Given the description of an element on the screen output the (x, y) to click on. 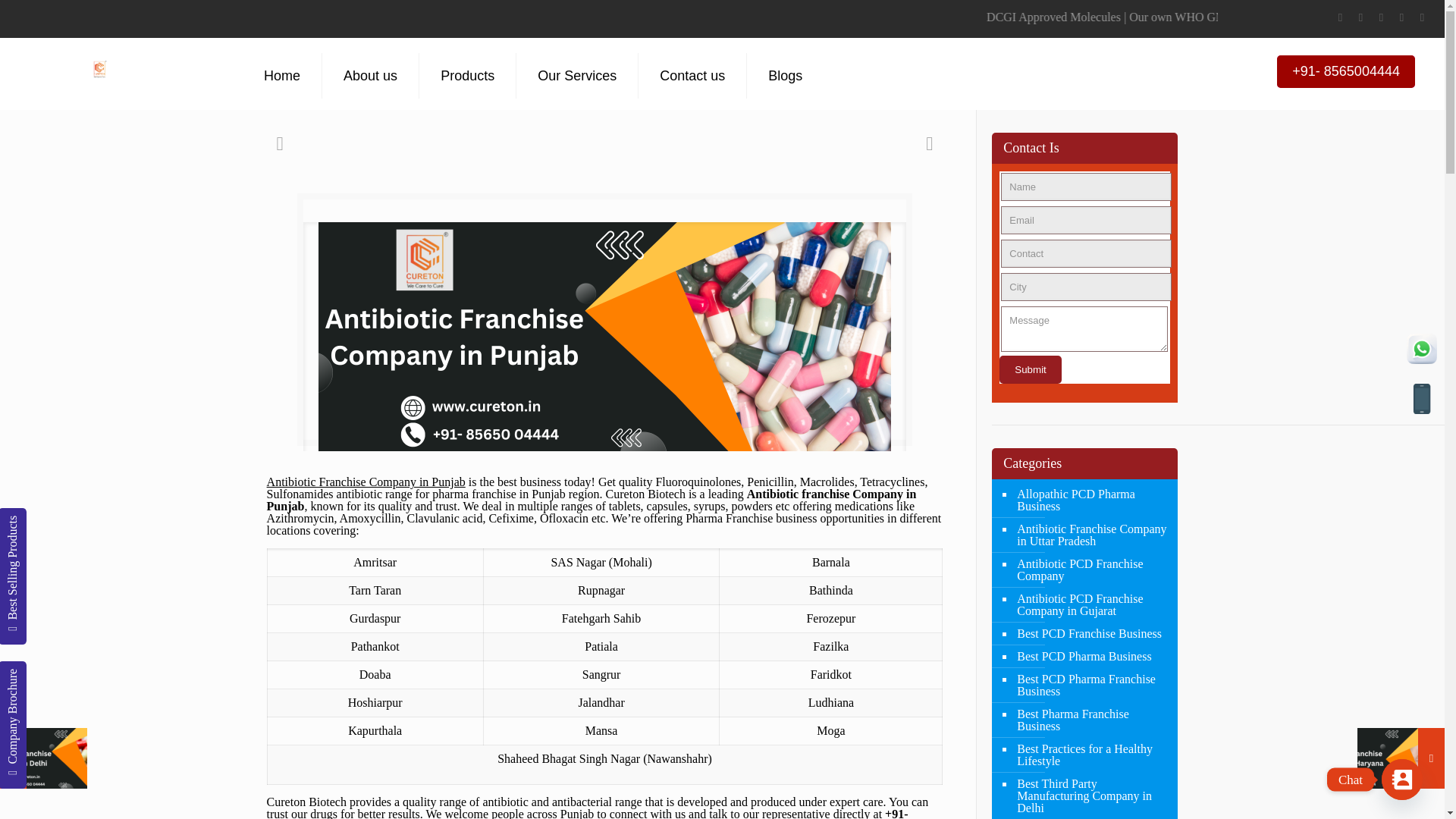
Blogs (785, 75)
Contact us (692, 75)
About us (370, 75)
Cureton Biotech Pvt Ltd (100, 60)
Facebook (1340, 17)
Our Services (577, 75)
Tumblr (1421, 17)
Submit (1029, 369)
Twitter (1360, 17)
Products (467, 75)
Best Selling Products (67, 521)
Company Brochure (62, 674)
Home (282, 75)
Pinterest (1401, 17)
LinkedIn (1381, 17)
